Given the description of an element on the screen output the (x, y) to click on. 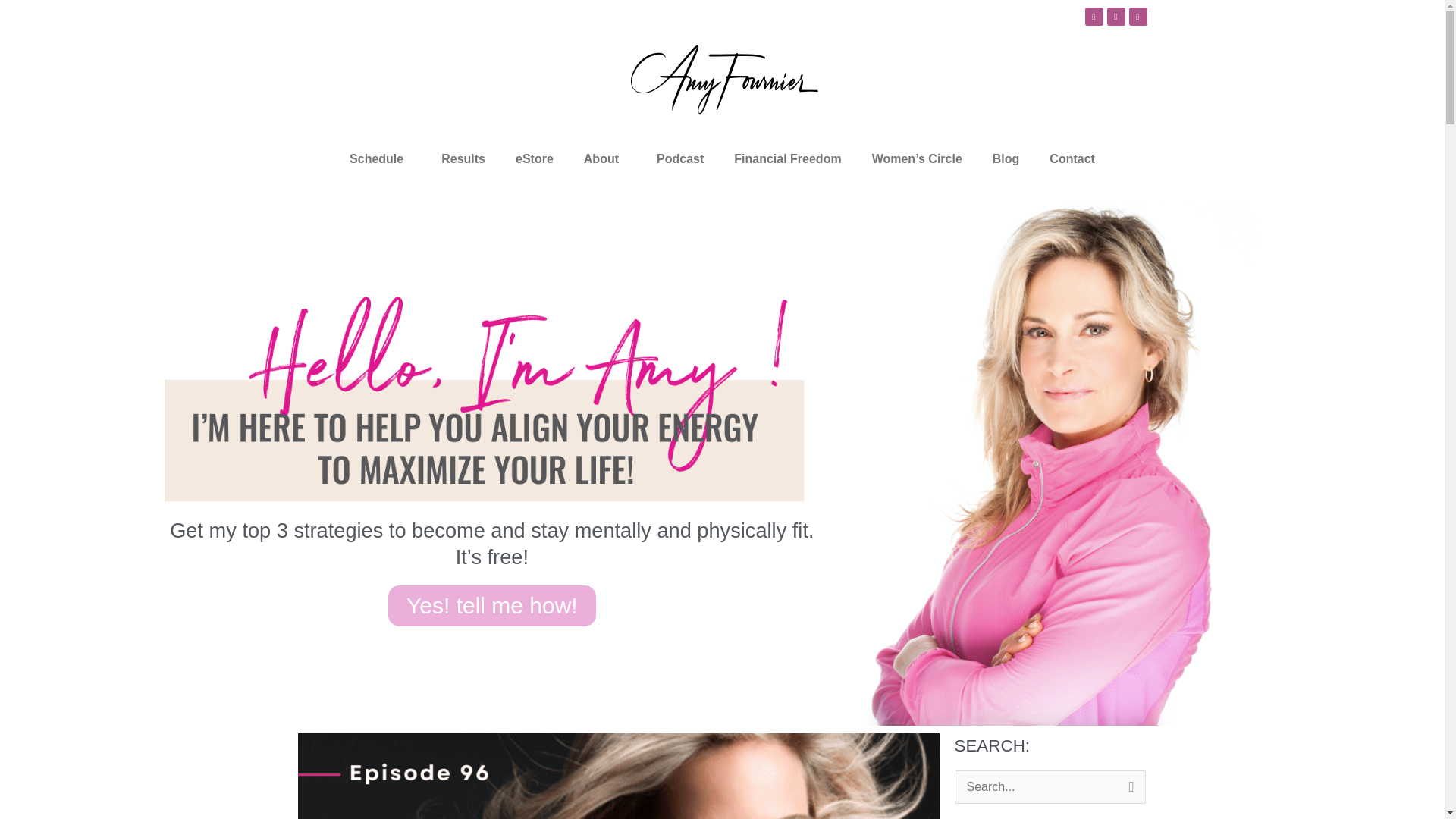
Instagram (1137, 16)
Yes! tell me how! (491, 605)
Financial Freedom (787, 159)
Contact (1071, 159)
Results (463, 159)
Podcast (680, 159)
Blog (1005, 159)
Schedule (380, 159)
eStore (534, 159)
About (605, 159)
Youtube (1093, 16)
Facebook (1115, 16)
